Given the description of an element on the screen output the (x, y) to click on. 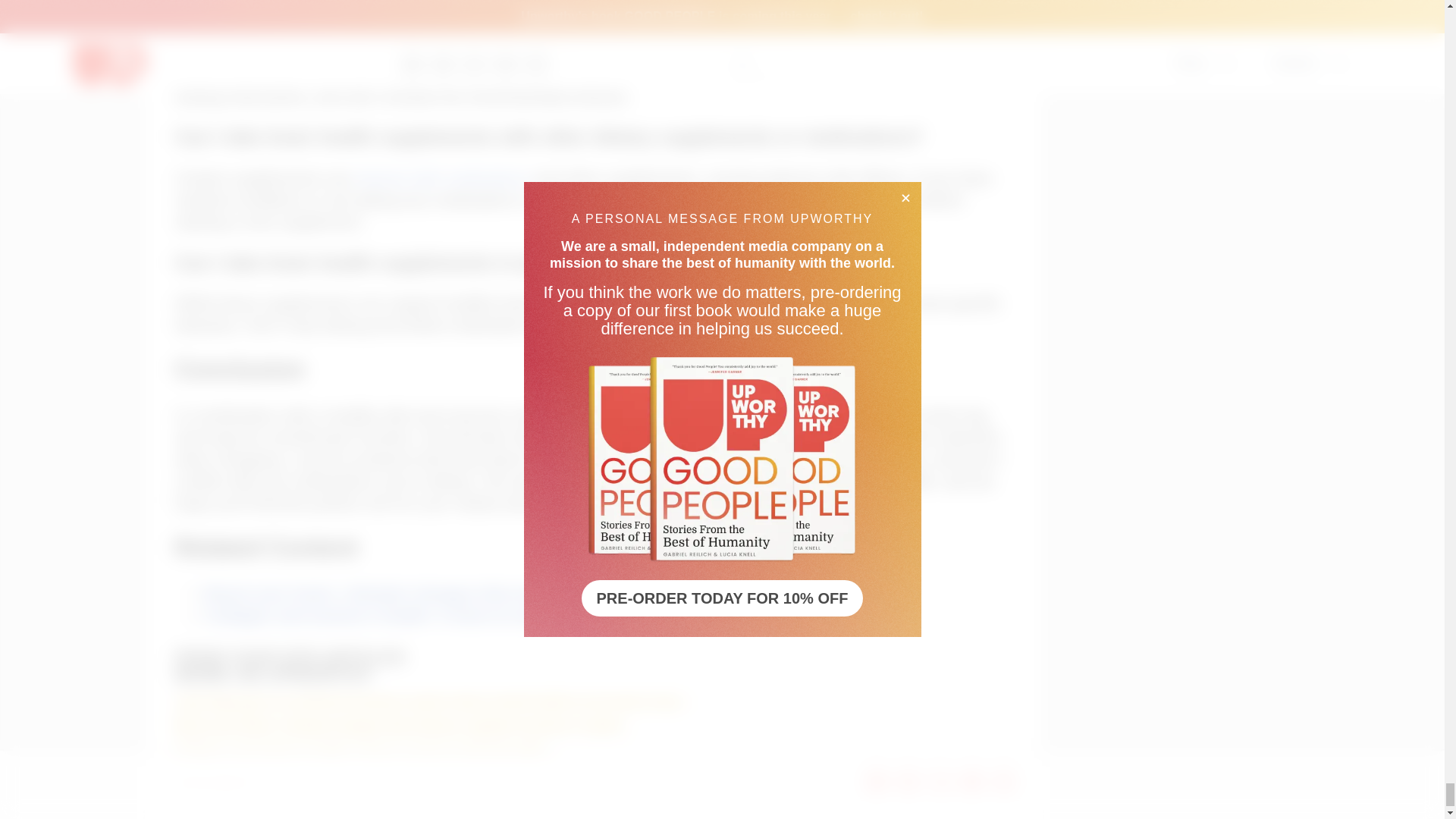
Copy this link to clipboard (1003, 781)
